Given the description of an element on the screen output the (x, y) to click on. 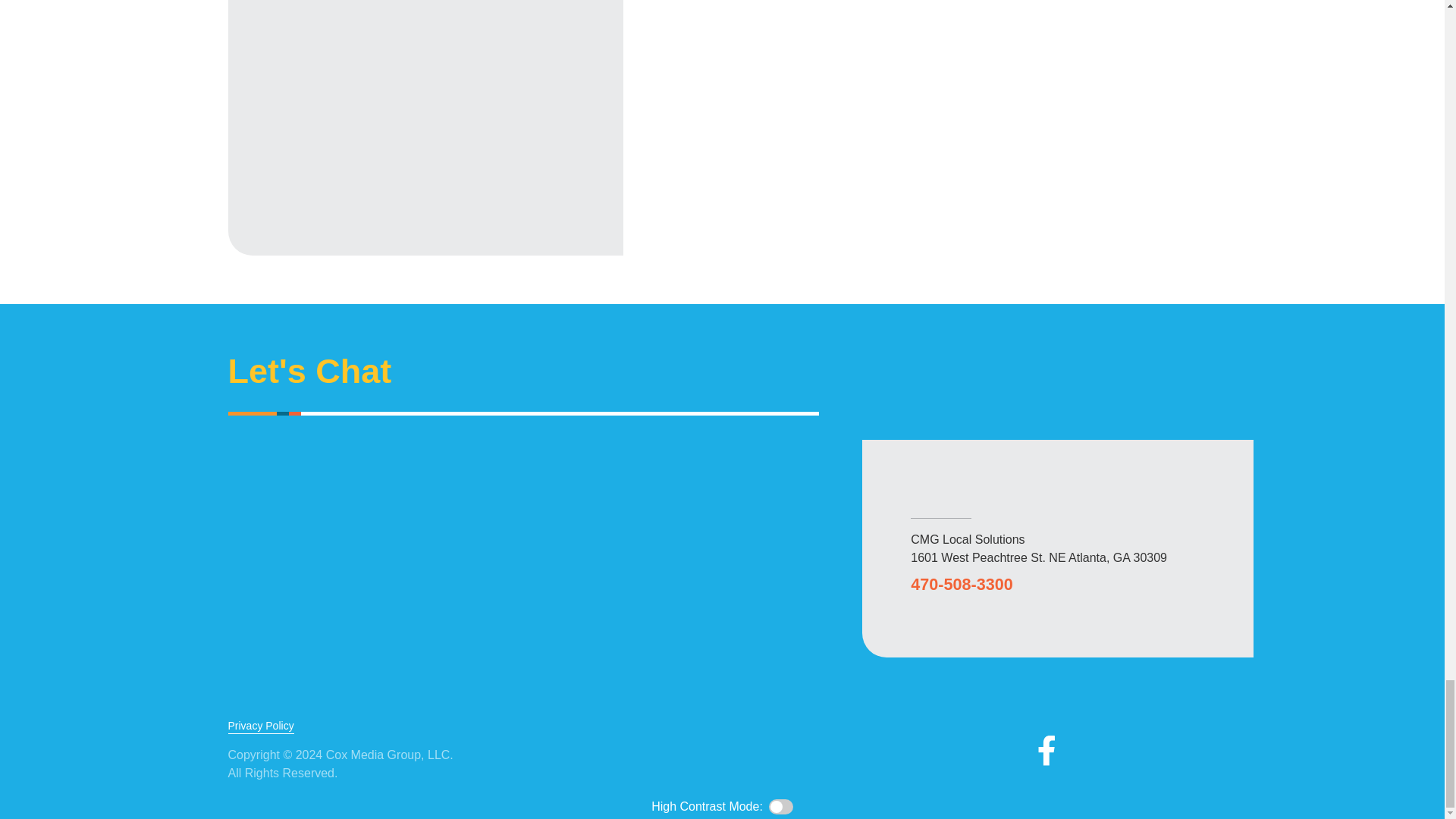
Facebook (1046, 750)
LinkedIn (1191, 750)
YouTube (1143, 750)
